Given the description of an element on the screen output the (x, y) to click on. 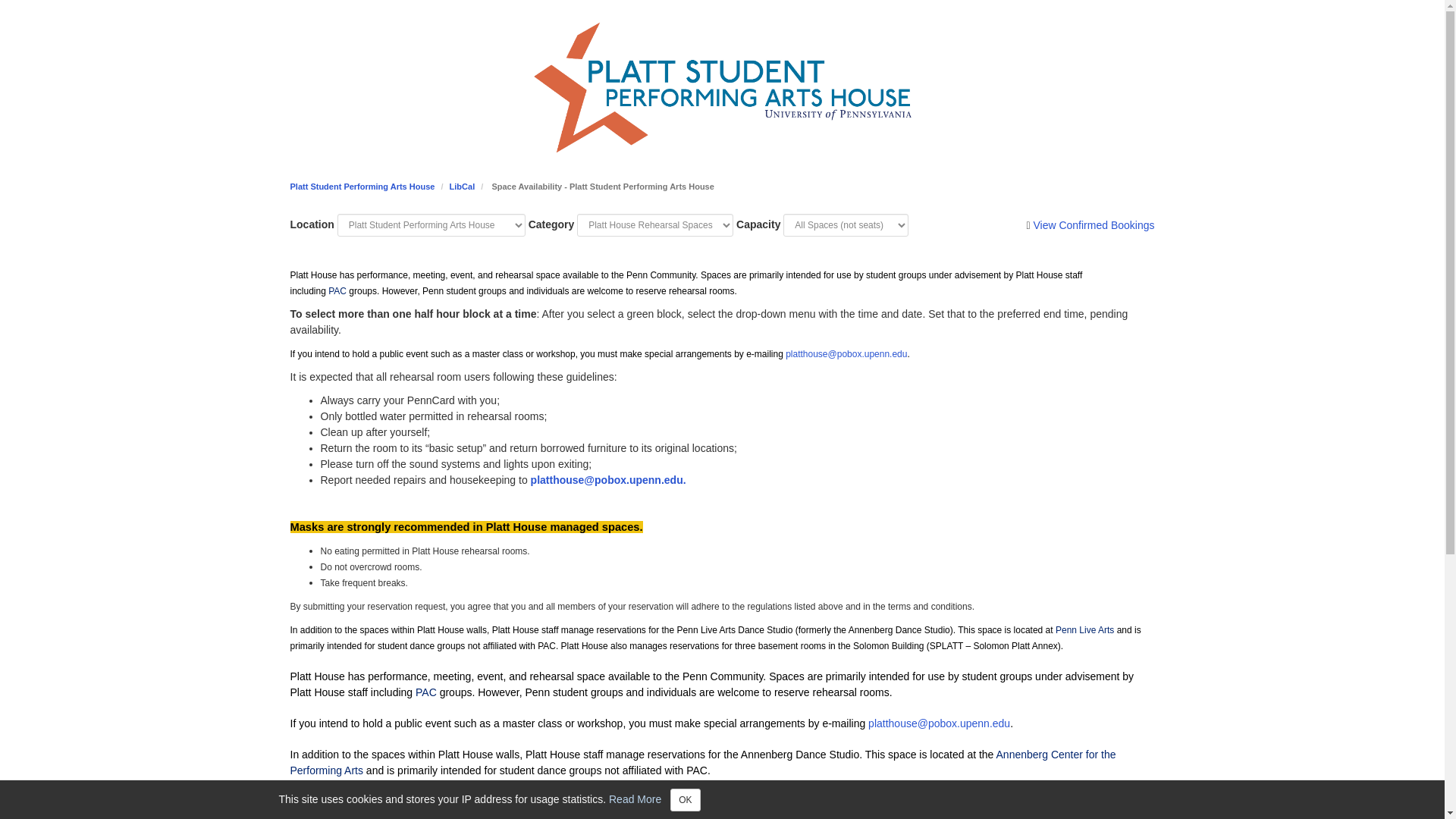
Read More (634, 798)
PAC (337, 290)
OK (684, 799)
Annenberg Center for the Performing Arts (702, 762)
LibCal (462, 185)
PAC (425, 692)
View Confirmed Bookings (1093, 225)
Penn Live Arts (1084, 629)
Platt Student Performing Arts House (361, 185)
